Given the description of an element on the screen output the (x, y) to click on. 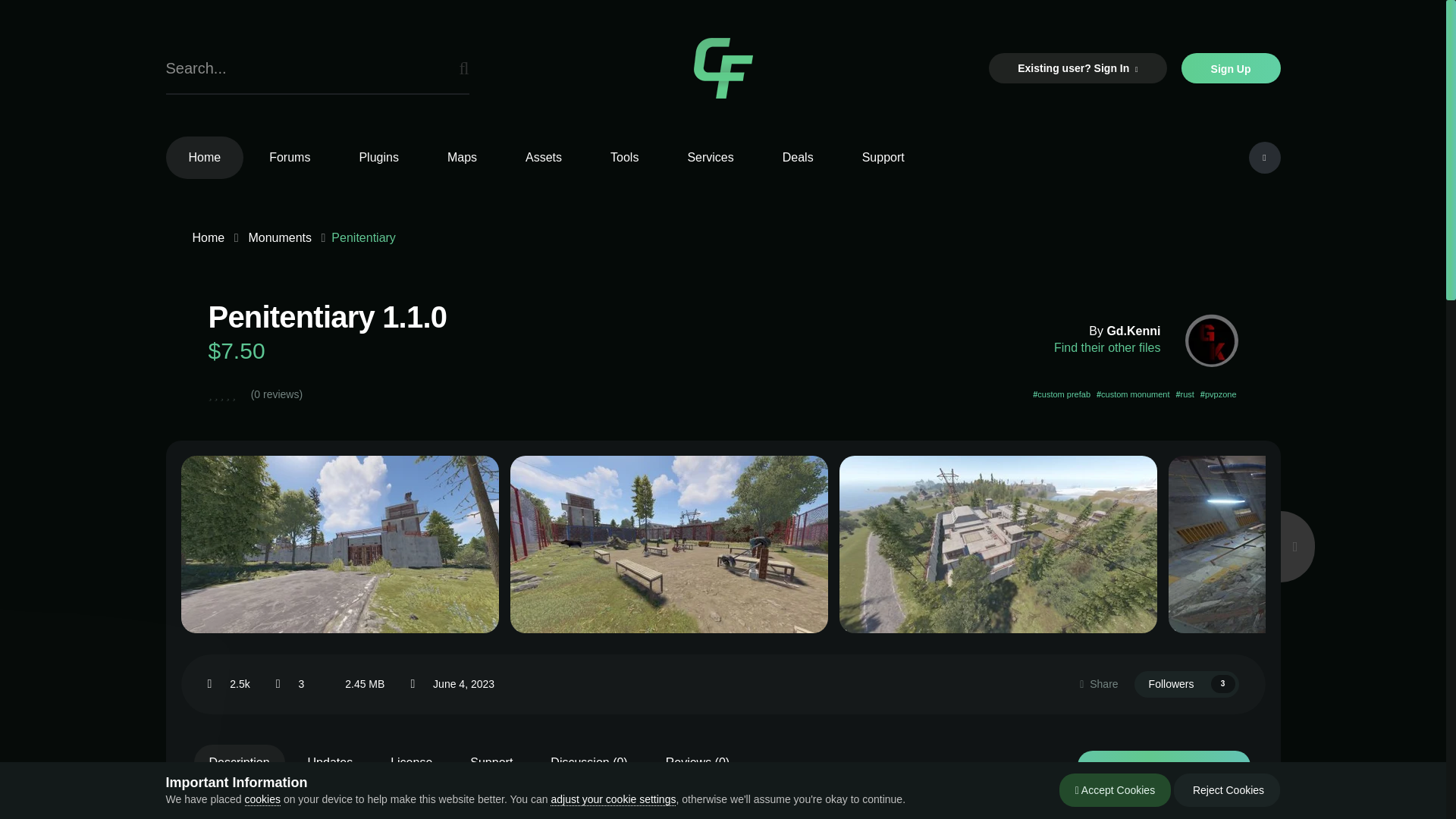
License (410, 762)
 Share (1098, 683)
Home (204, 238)
Assets (543, 157)
Updates (330, 762)
Find other content tagged with 'custom monument' (1133, 394)
Find their other files (1107, 347)
Deals (797, 157)
Sign Up (1230, 68)
View list of downloaders (301, 684)
Sign in to follow this (1186, 683)
Find other content tagged with 'rust' (1183, 394)
Home (204, 157)
Tools (624, 157)
on (1263, 157)
